Given the description of an element on the screen output the (x, y) to click on. 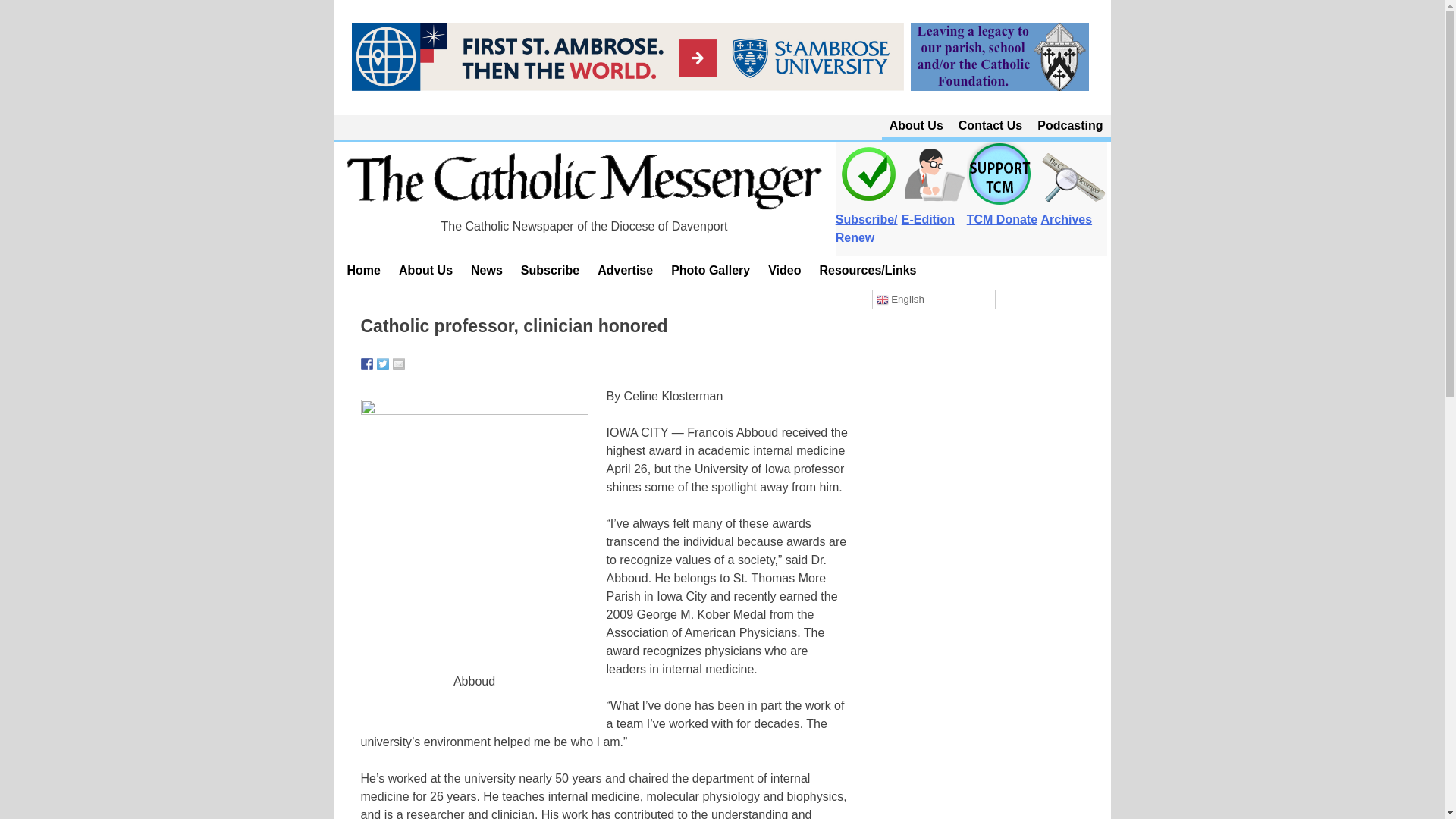
About Us (916, 125)
E-Edition (933, 210)
Home (363, 270)
Archives (1073, 210)
Share on Twitter (381, 363)
Subscribe (549, 270)
TCM Donate (1001, 210)
Share on Facebook (366, 363)
Share by email (398, 363)
Advertise (625, 270)
